Given the description of an element on the screen output the (x, y) to click on. 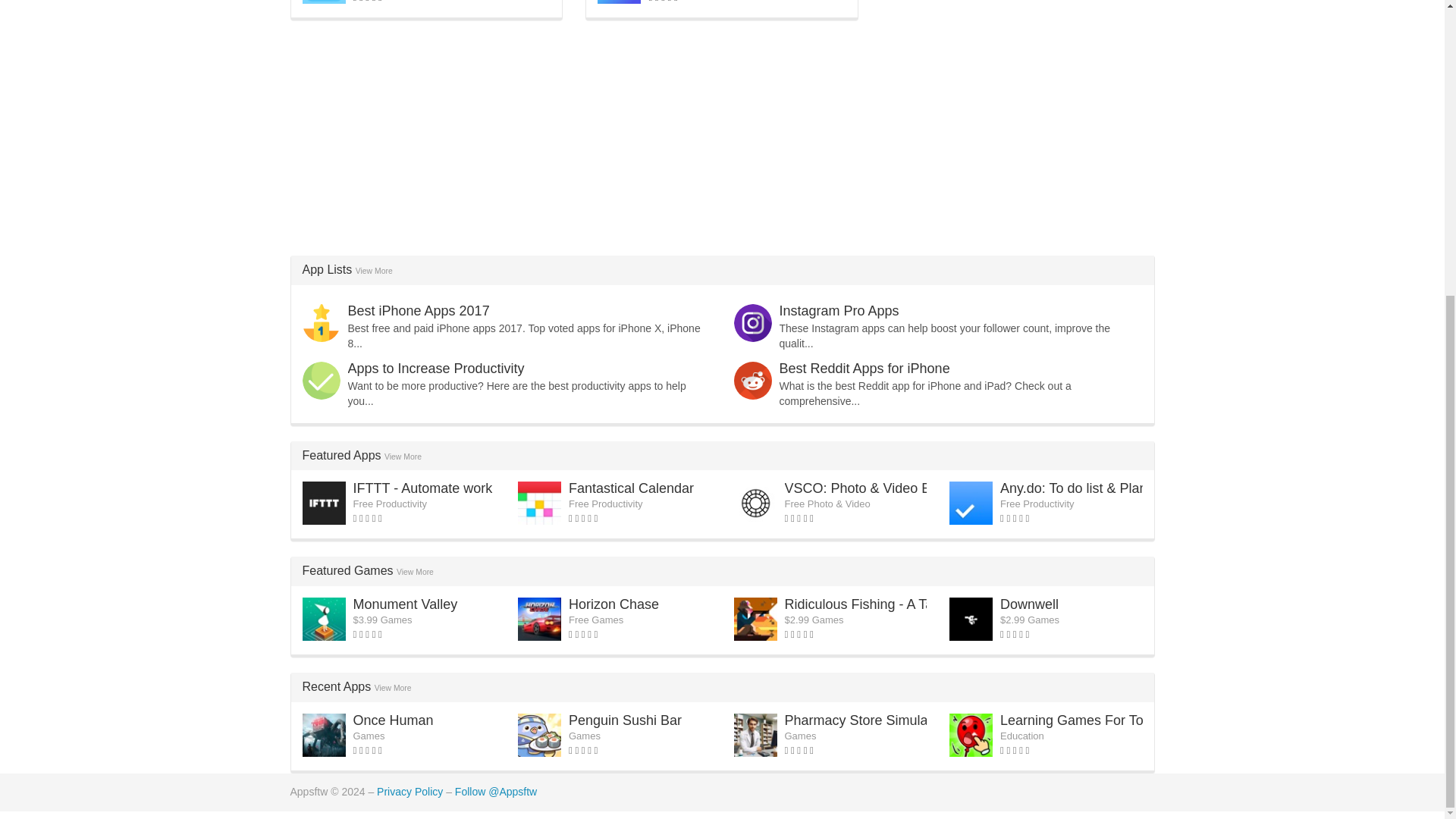
Apps to Increase Productivity (435, 368)
Instagram Pro Apps (838, 310)
Best iPhone Apps 2017 (418, 310)
